Given the description of an element on the screen output the (x, y) to click on. 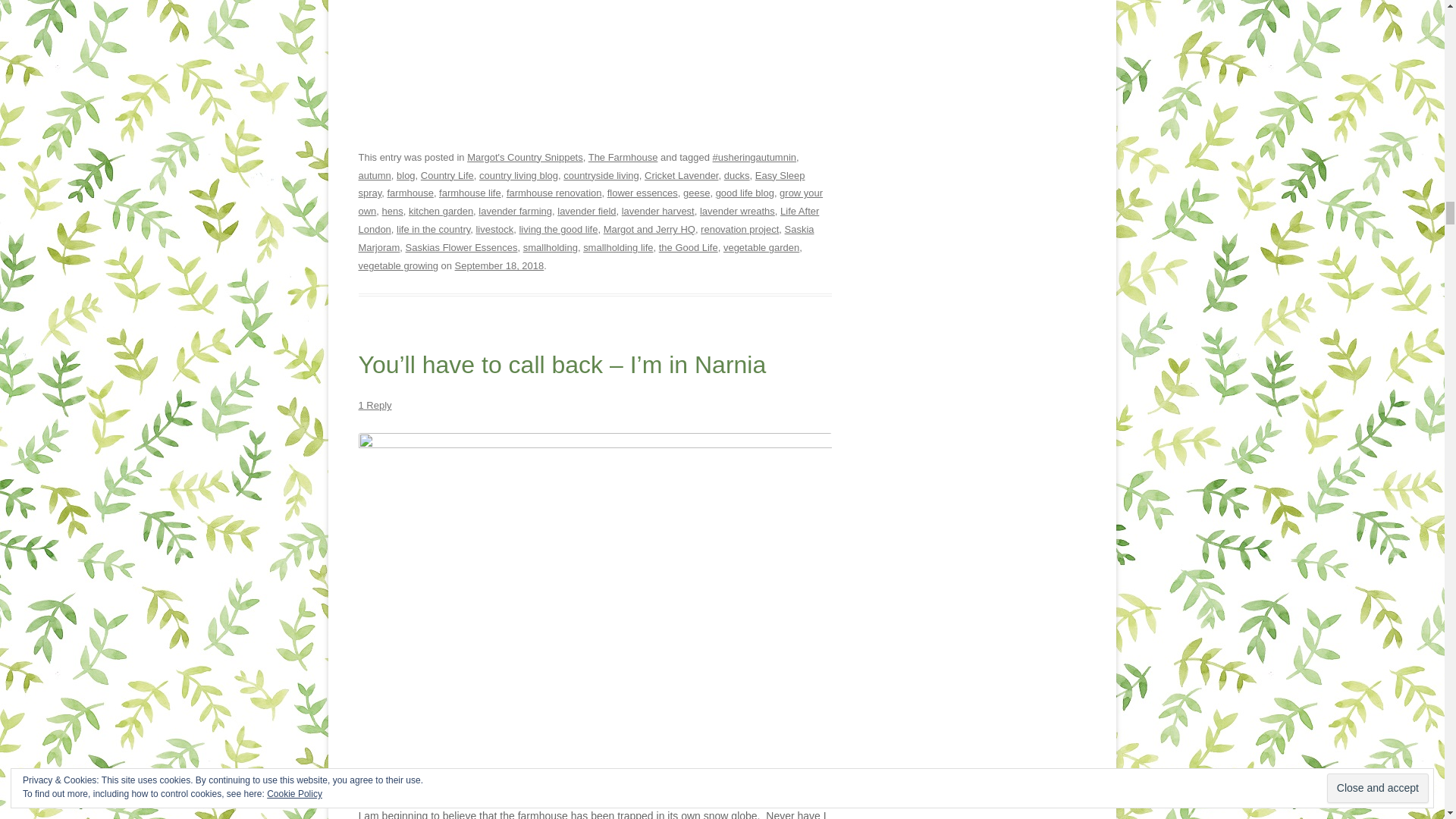
autumn (374, 174)
kitchen garden (441, 211)
farmhouse life (469, 193)
Country Life (447, 174)
lavender field (586, 211)
farmhouse renovation (554, 193)
Easy Sleep spray (581, 184)
lavender farming (515, 211)
1:32 pm (499, 265)
Cricket Lavender (681, 174)
The Farmhouse (623, 156)
farmhouse (410, 193)
ducks (736, 174)
good life blog (745, 193)
grow your own (590, 202)
